Given the description of an element on the screen output the (x, y) to click on. 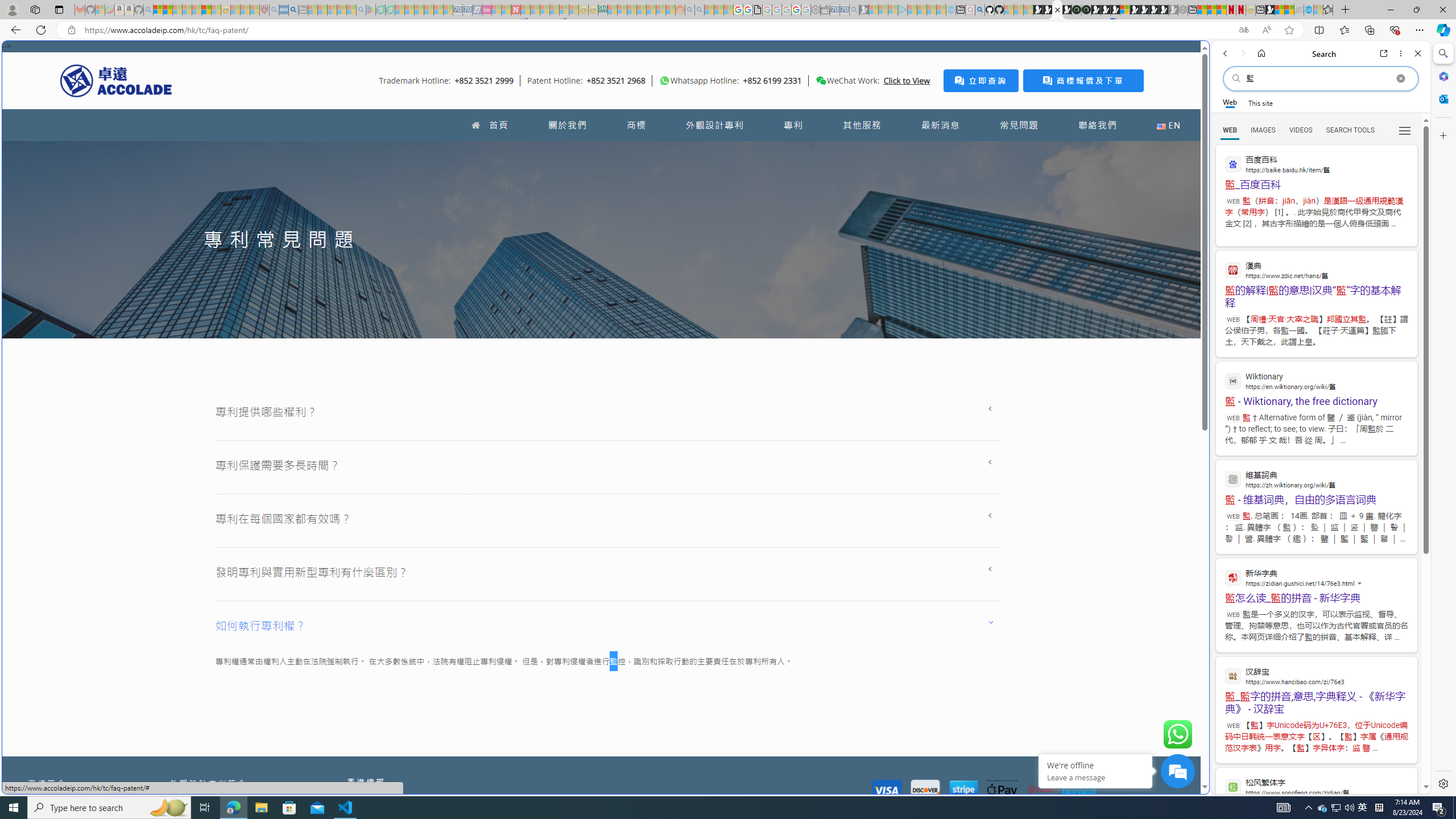
EN (1168, 124)
